Given the description of an element on the screen output the (x, y) to click on. 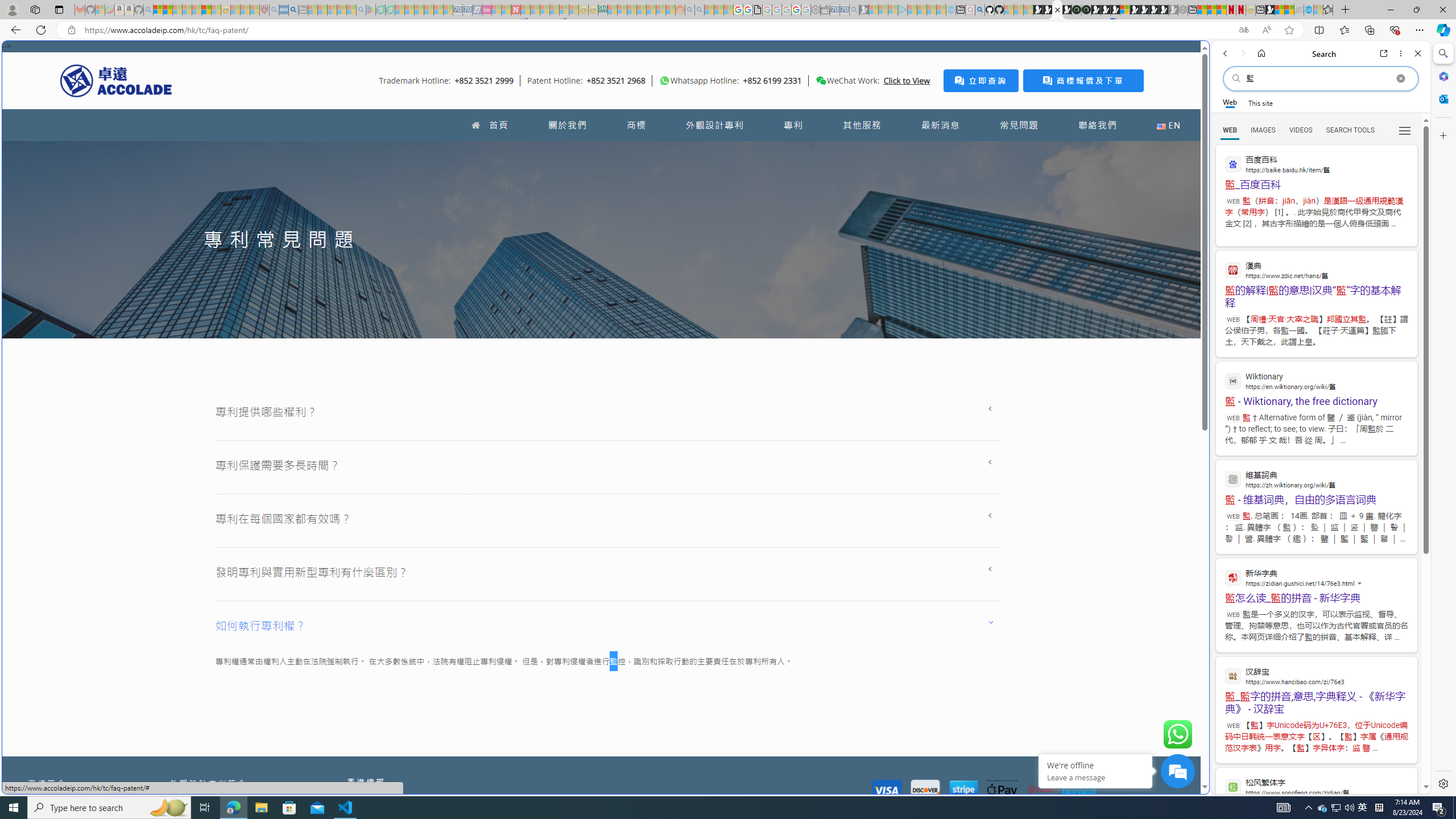
EN (1168, 124)
